Given the description of an element on the screen output the (x, y) to click on. 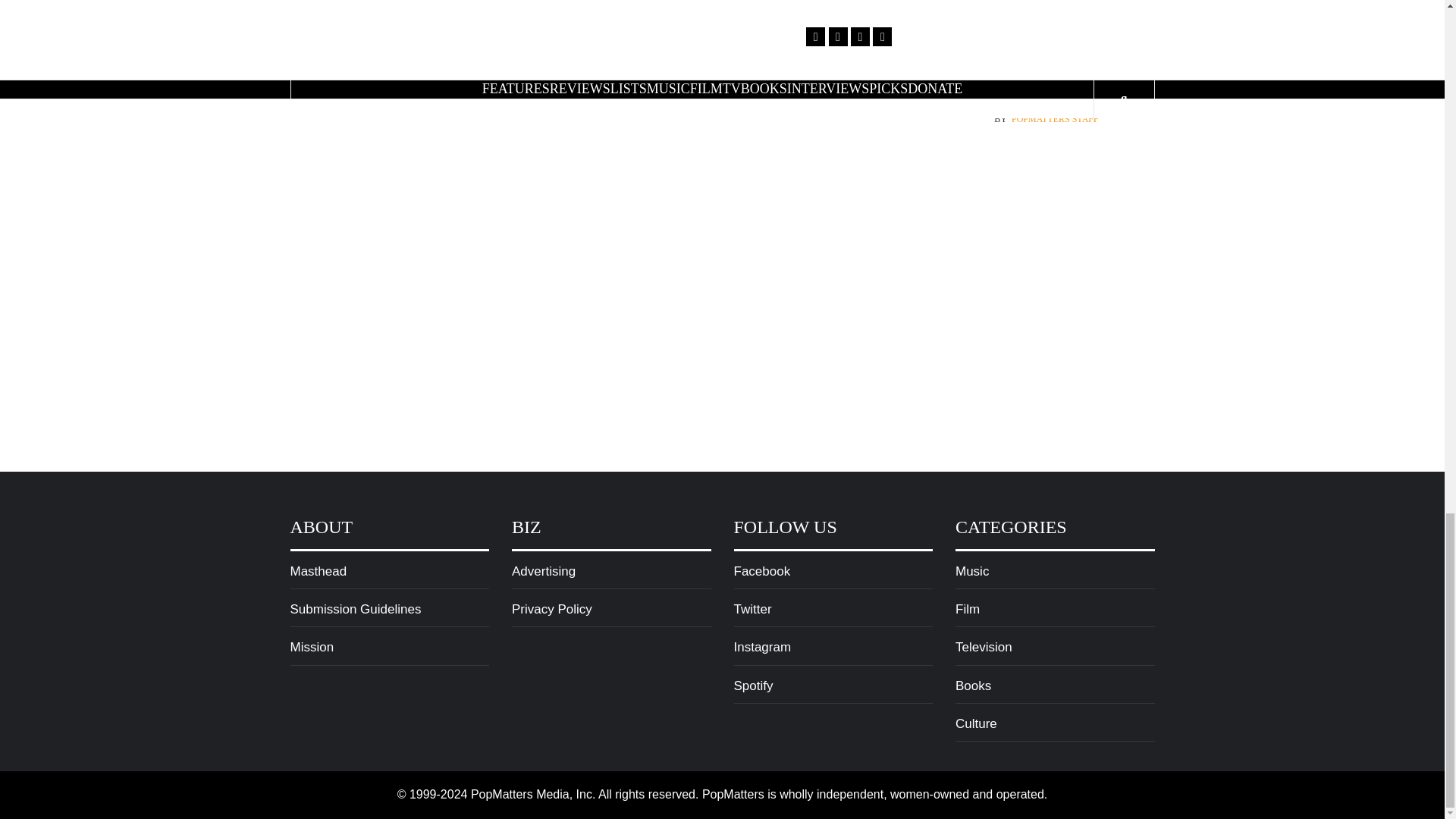
PopMatters Staff (1055, 47)
RADIO MOSCOW: RADIO MOSCOW (718, 14)
PopMatters Staff (1055, 119)
